Given the description of an element on the screen output the (x, y) to click on. 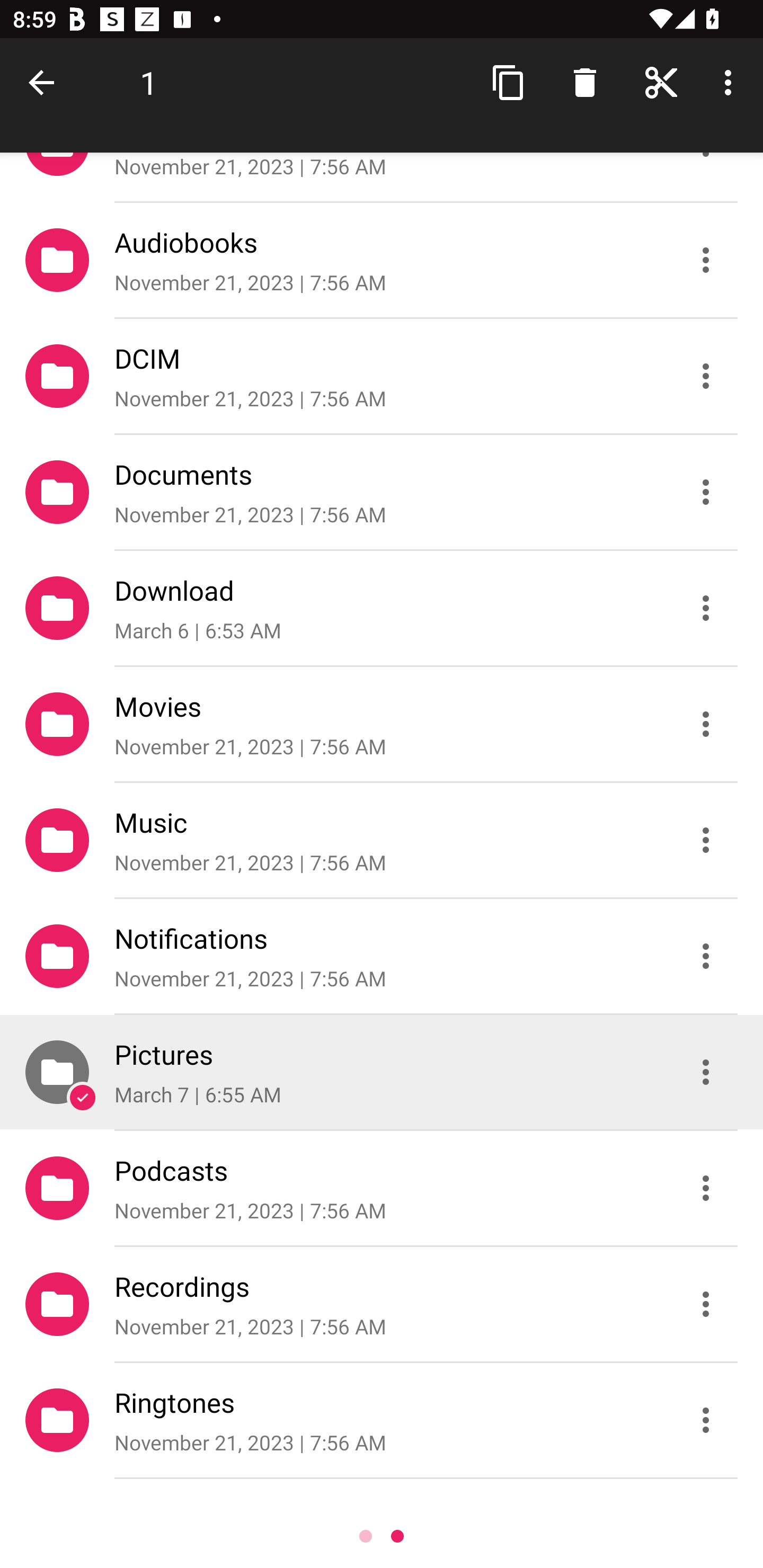
1 (148, 82)
Done (44, 81)
Copy (508, 81)
Delete (585, 81)
Cut (661, 81)
More options (731, 81)
Audiobooks November 21, 2023 | 7:56 AM (381, 259)
DCIM November 21, 2023 | 7:56 AM (381, 375)
Documents November 21, 2023 | 7:56 AM (381, 491)
Download March 6 | 6:53 AM (381, 607)
Movies November 21, 2023 | 7:56 AM (381, 723)
Music November 21, 2023 | 7:56 AM (381, 839)
Notifications November 21, 2023 | 7:56 AM (381, 955)
Pictures March 7 | 6:55 AM (381, 1071)
Podcasts November 21, 2023 | 7:56 AM (381, 1187)
Recordings November 21, 2023 | 7:56 AM (381, 1303)
Ringtones November 21, 2023 | 7:56 AM (381, 1419)
